Given the description of an element on the screen output the (x, y) to click on. 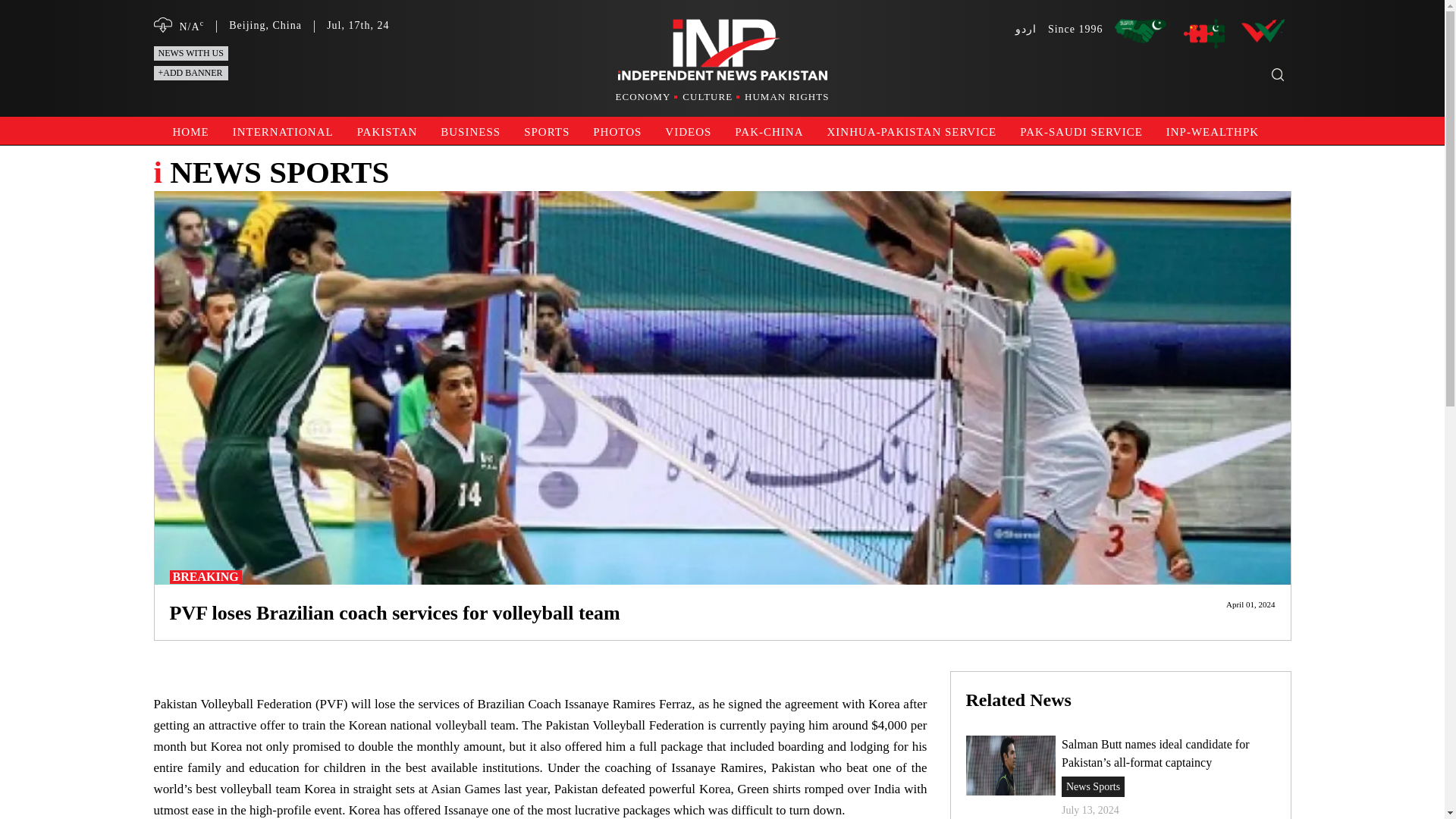
HUMAN RIGHTS (786, 96)
INP-WEALTHPK (1210, 130)
XINHUA-PAKISTAN SERVICE (909, 130)
Since 1996 (1075, 29)
ECONOMY (647, 96)
BUSINESS (467, 130)
PAKISTAN (385, 130)
PAK-SAUDI SERVICE (1079, 130)
SPORTS (544, 130)
VIDEOS (686, 130)
INTERNATIONAL (281, 130)
NEWS WITH US (189, 52)
CULTURE (711, 96)
PAK-CHINA (766, 130)
PHOTOS (615, 130)
